Given the description of an element on the screen output the (x, y) to click on. 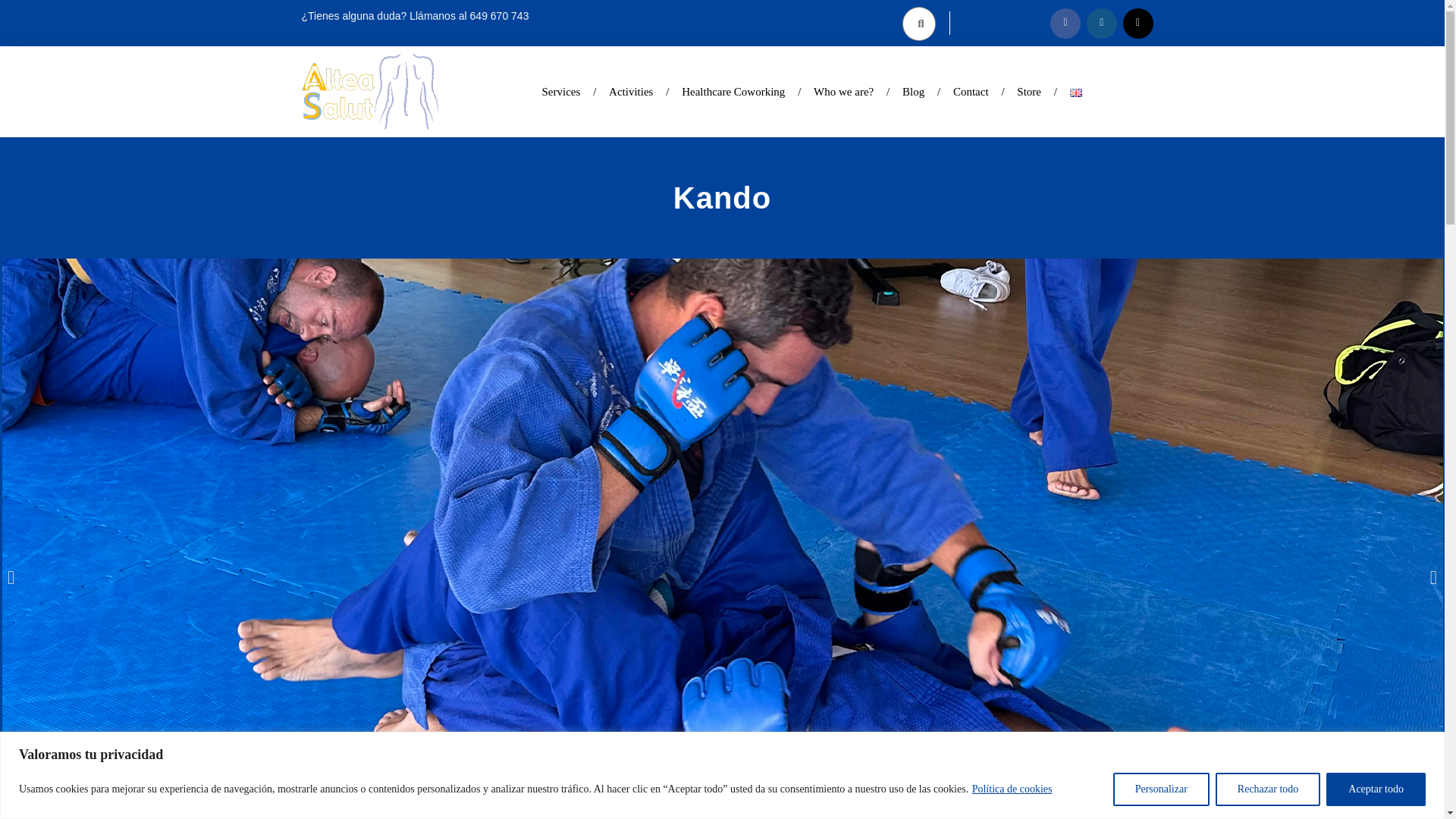
Services (561, 91)
Rechazar todo (1267, 788)
Aceptar todo (1375, 788)
Personalizar (1161, 788)
Activities (630, 91)
